Given the description of an element on the screen output the (x, y) to click on. 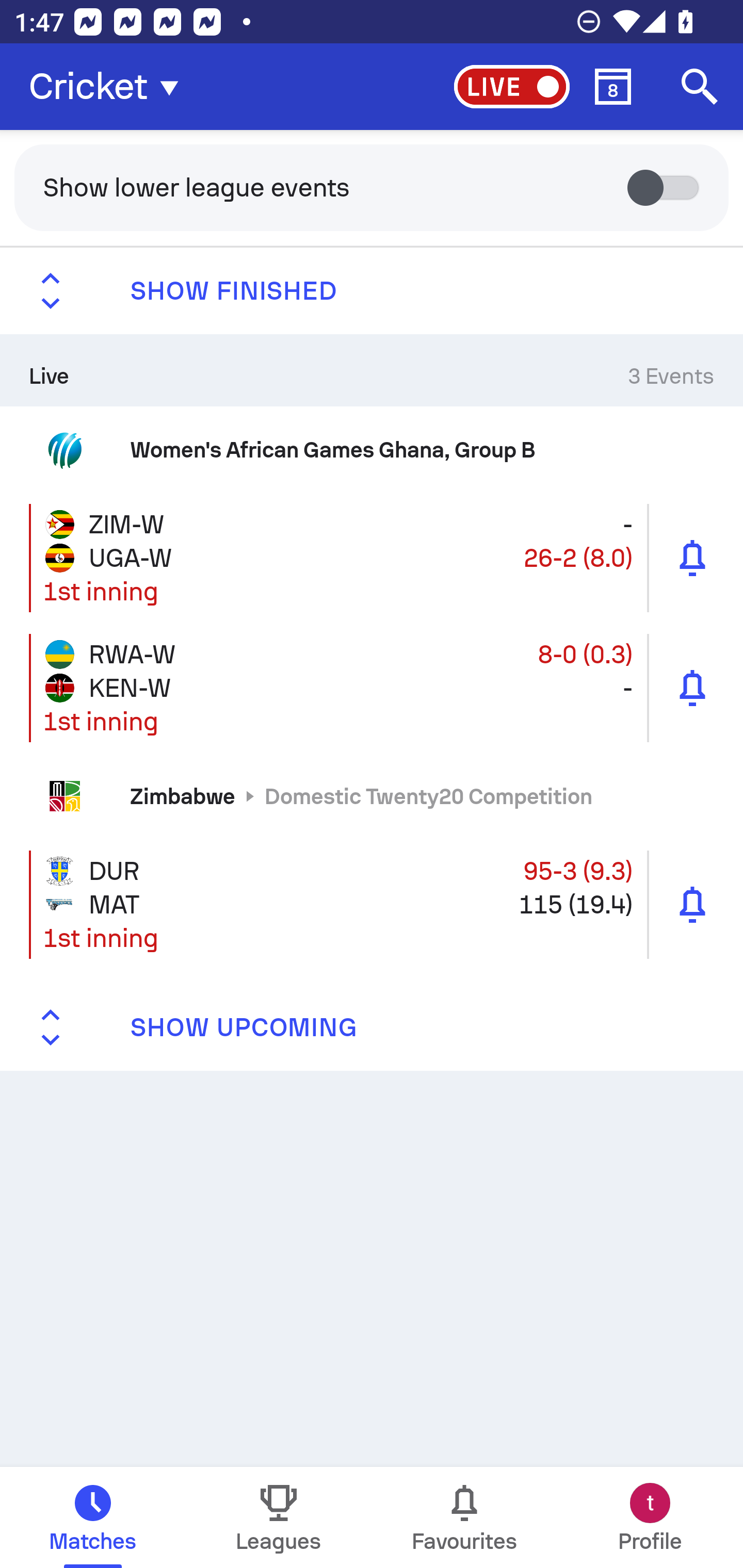
Cricket (109, 86)
Calendar (612, 86)
Search (699, 86)
Show lower league events (371, 187)
SHOW FINISHED (371, 290)
Live 3 Events (371, 369)
Women's African Games Ghana, Group B (371, 449)
ZIM-W - UGA-W 26-2 (8.0) 1st inning (371, 557)
RWA-W 8-0 (0.3) KEN-W - 1st inning (371, 687)
Zimbabwe Domestic Twenty20 Competition (371, 796)
DUR 95-3 (9.3) MAT 115 (19.4) 1st inning (371, 904)
SHOW UPCOMING (371, 1027)
Leagues (278, 1517)
Favourites (464, 1517)
Profile (650, 1517)
